Given the description of an element on the screen output the (x, y) to click on. 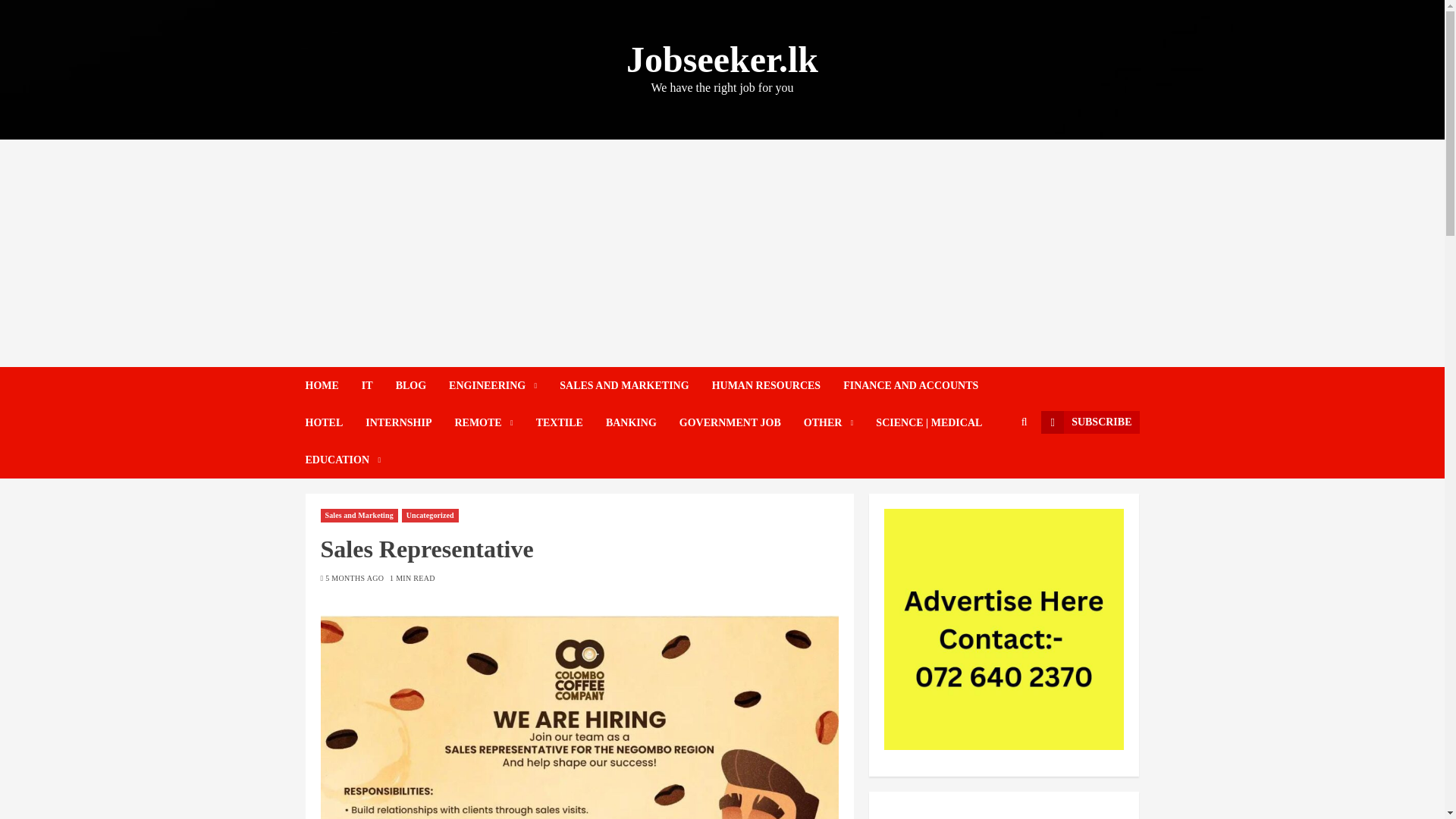
BANKING (642, 422)
Search (994, 468)
OTHER (839, 422)
TEXTILE (570, 422)
Jobseeker.lk (722, 59)
HOTEL (334, 422)
IT (378, 385)
HOME (332, 385)
REMOTE (494, 422)
SUBSCRIBE (1089, 422)
